Given the description of an element on the screen output the (x, y) to click on. 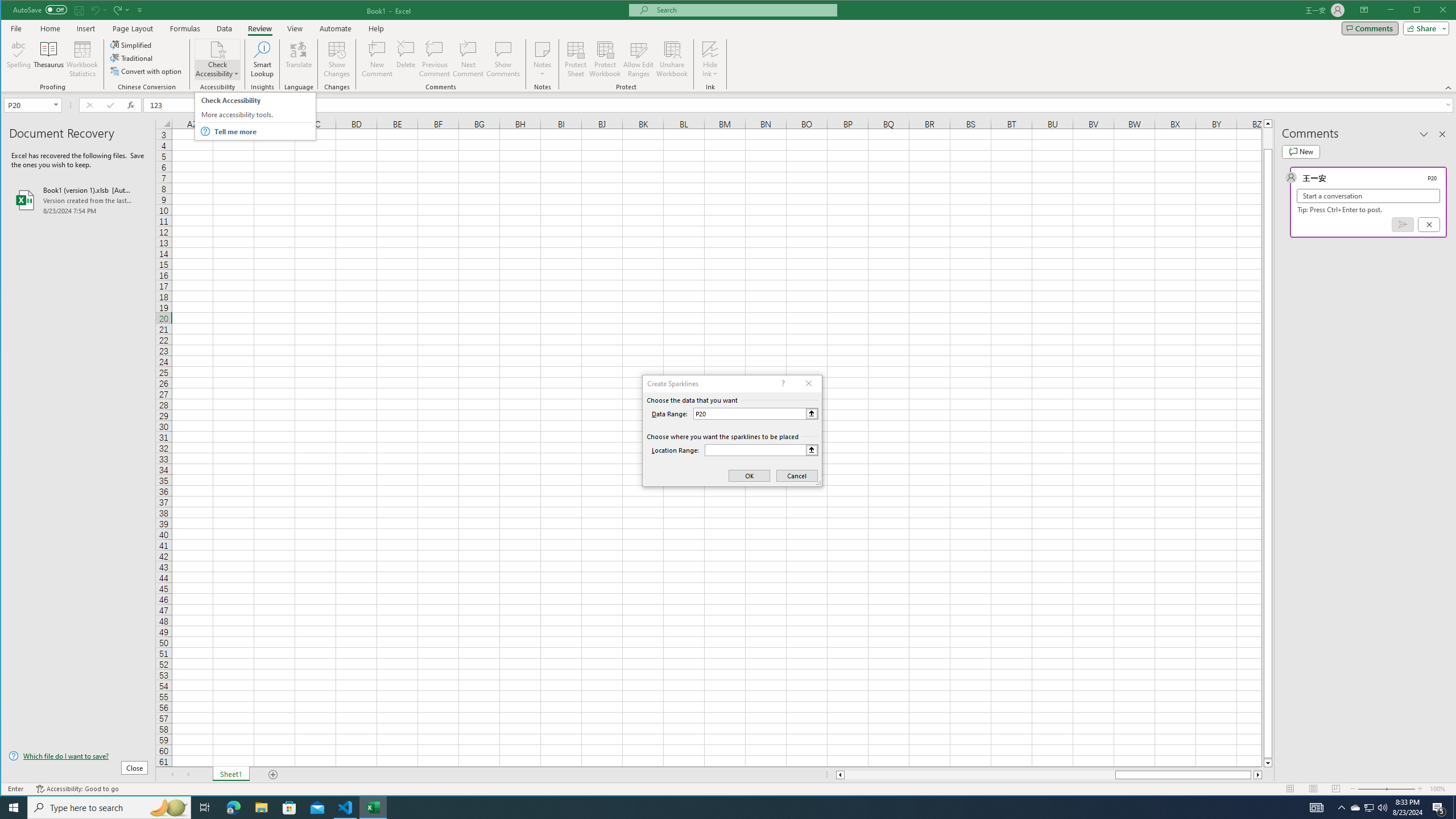
Protect Sheet... (575, 59)
Next Comment (467, 59)
Traditional (255, 115)
